Given the description of an element on the screen output the (x, y) to click on. 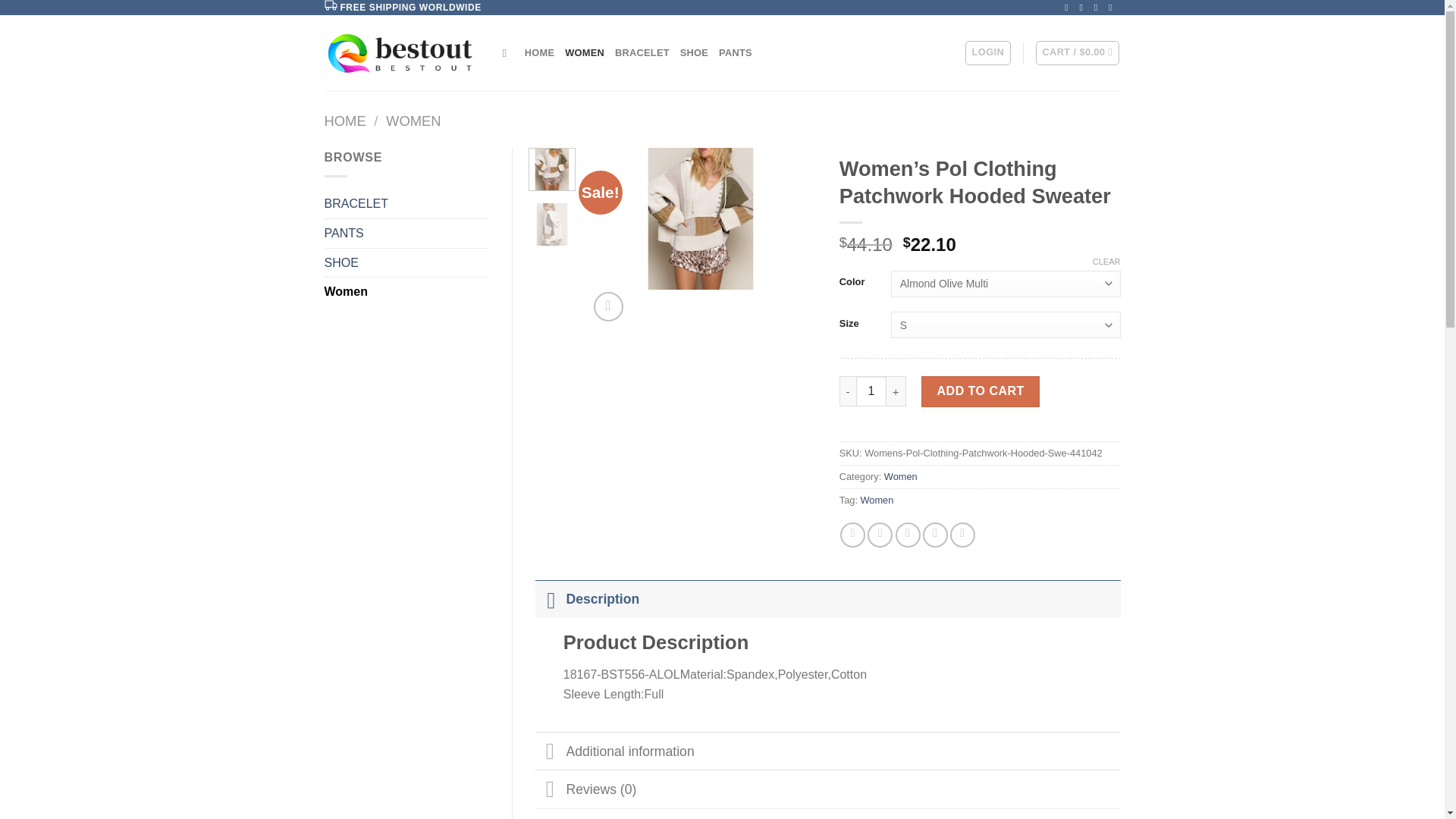
BESTOUTDOORTOYS (402, 53)
Share on Twitter (879, 534)
Cart (1077, 52)
HOME (345, 120)
PANTS (406, 233)
Women (900, 476)
PANTS (735, 52)
Share on Facebook (852, 534)
BRACELET (406, 203)
Women (406, 291)
SHOE (693, 52)
18167-BST556-ALOL.jpg (700, 218)
HOME (539, 52)
SHOE (406, 262)
WOMEN (413, 120)
